Given the description of an element on the screen output the (x, y) to click on. 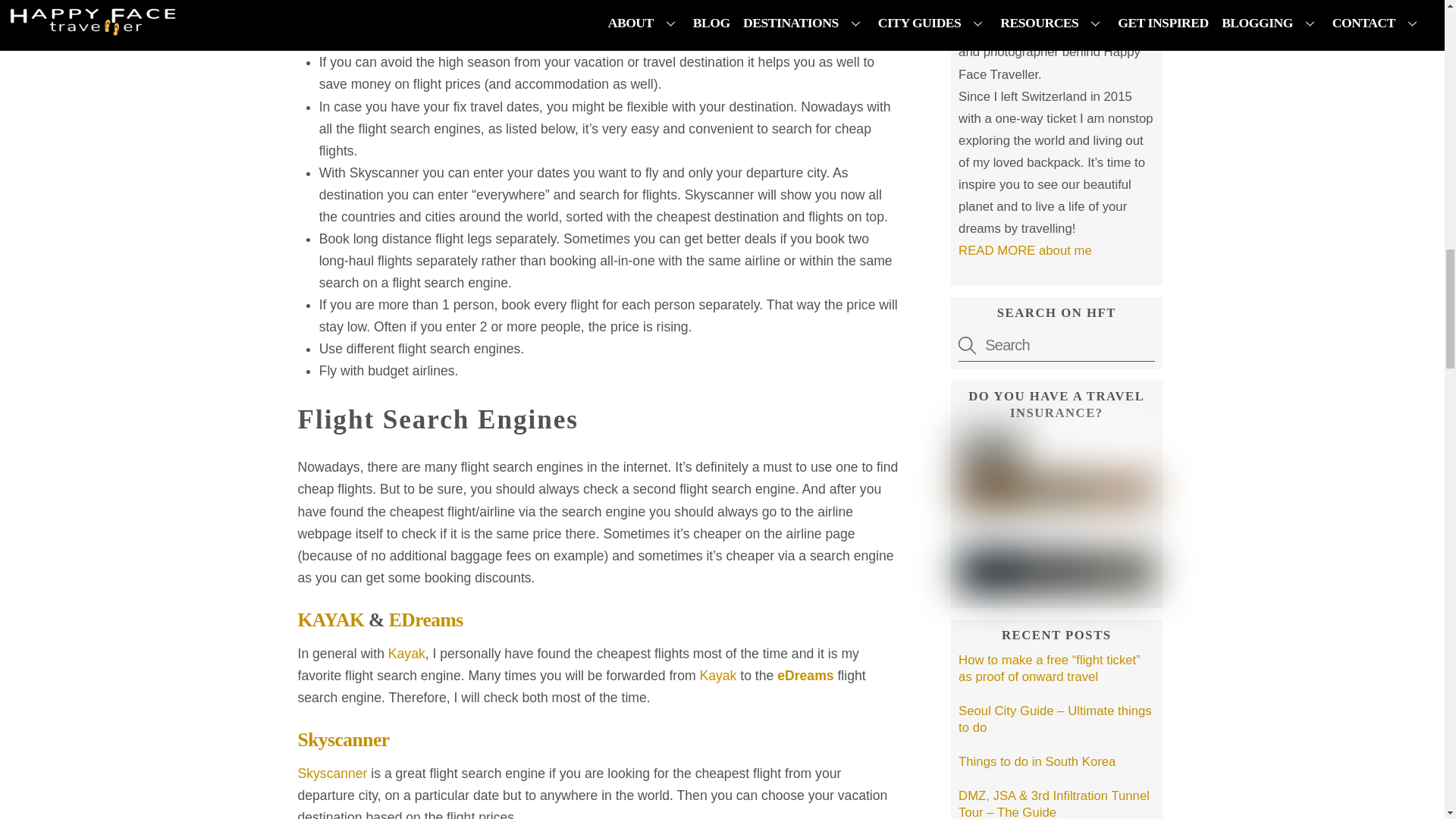
eDreamsCH (807, 675)
eDreamsCH (425, 618)
KayakUS (406, 653)
KayakUS (718, 675)
SkyscannerCH (342, 739)
KayakUS (330, 618)
SkyscannerCH (334, 773)
